Given the description of an element on the screen output the (x, y) to click on. 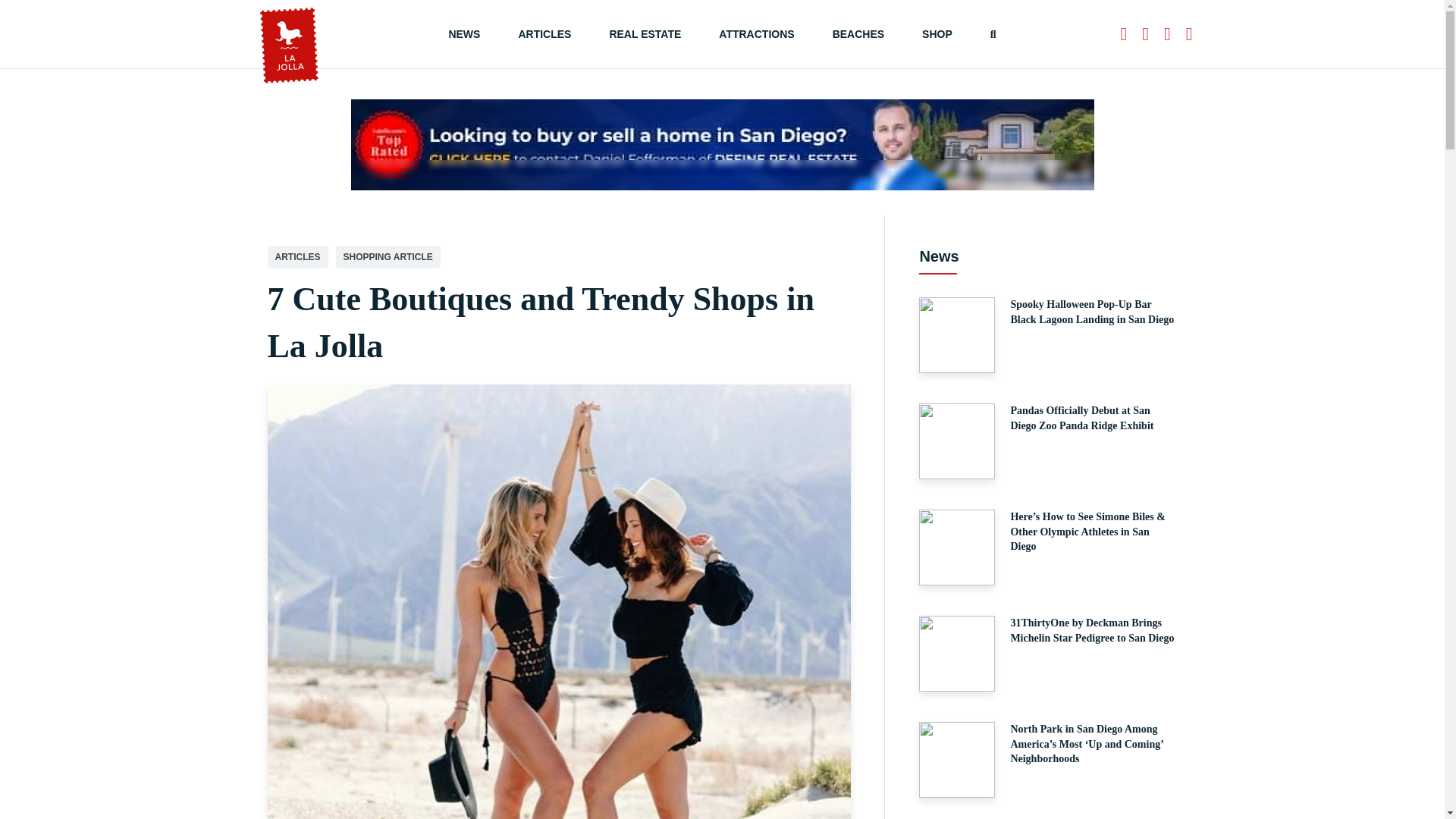
ARTICLES (544, 33)
NEWS (464, 33)
SHOPPING ARTICLE (386, 256)
ARTICLES (296, 256)
ATTRACTIONS (756, 33)
REAL ESTATE (644, 33)
Pandas Officially Debut at San Diego Zoo Panda Ridge Exhibit (1047, 441)
BEACHES (857, 33)
SHOP (936, 33)
